Given the description of an element on the screen output the (x, y) to click on. 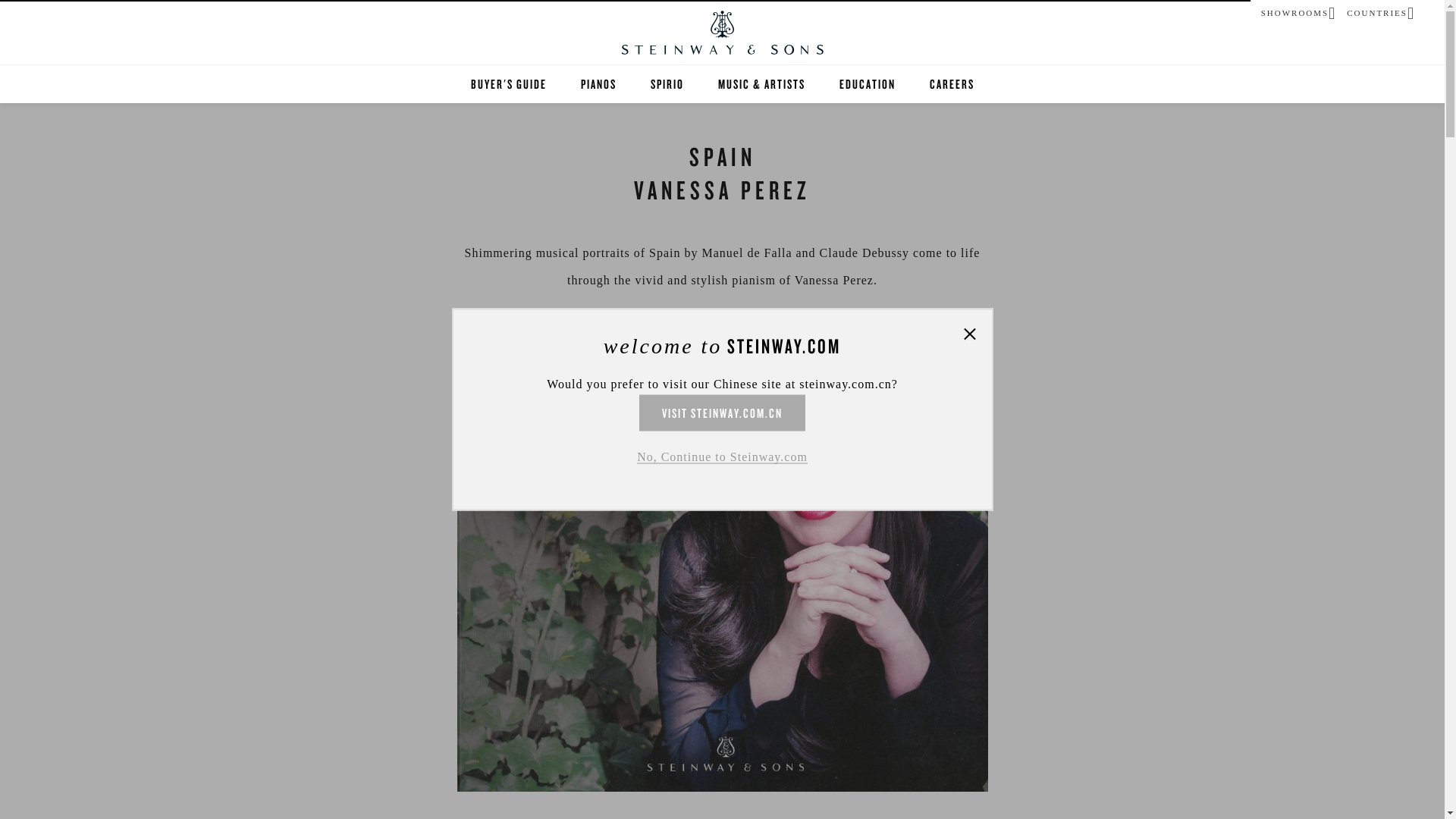
PIANOS (597, 84)
EDUCATION (866, 84)
CAREERS (952, 84)
Subscribe (722, 528)
COUNTRIES (1376, 10)
BUYER'S GUIDE (508, 84)
SHOWROOMS (1294, 10)
